Given the description of an element on the screen output the (x, y) to click on. 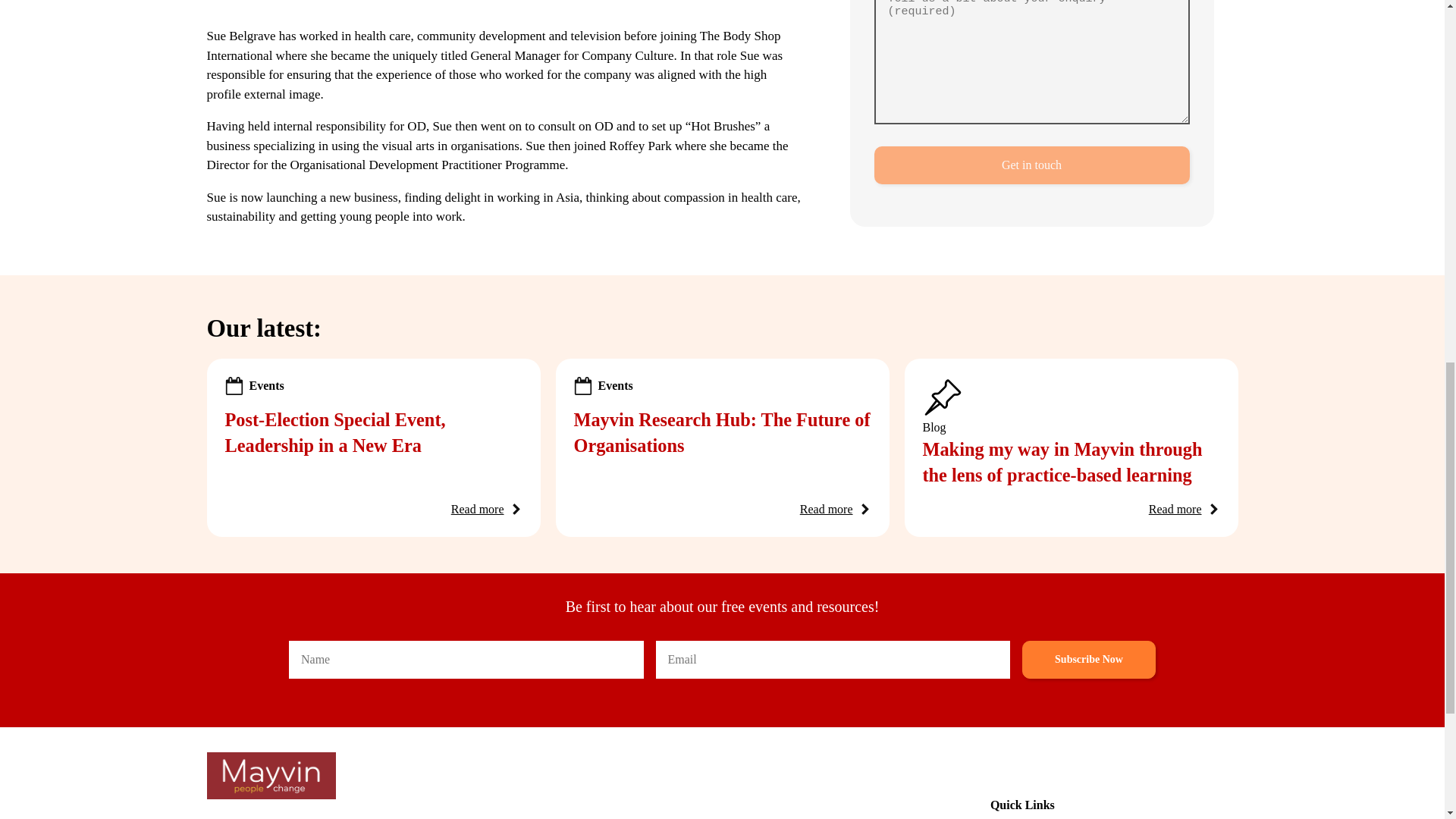
Subscribe Now (1089, 659)
Read more (1175, 509)
Post-Election Special Event, Leadership in a New Era (334, 432)
Read more (477, 509)
Mayvin Research Hub: The Future of Organisations (721, 432)
Blog (1067, 816)
Resources (1016, 816)
Get in touch (1031, 120)
Mayvin Alumni (1189, 816)
Read more (826, 509)
Get in touch (1031, 120)
Podcasts (1115, 816)
